Given the description of an element on the screen output the (x, y) to click on. 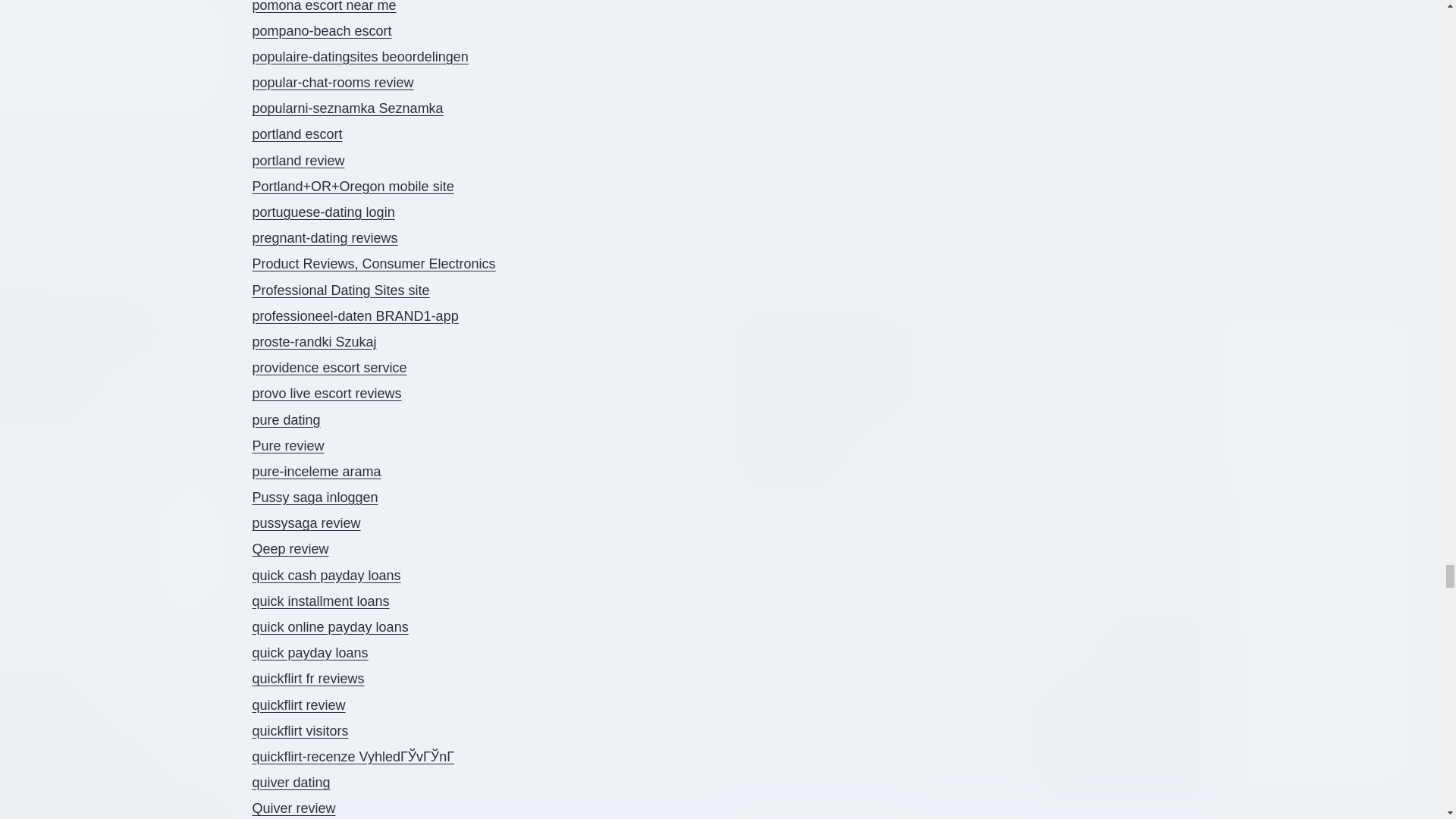
Product Reviews, Consumer Electronics (373, 263)
